Given the description of an element on the screen output the (x, y) to click on. 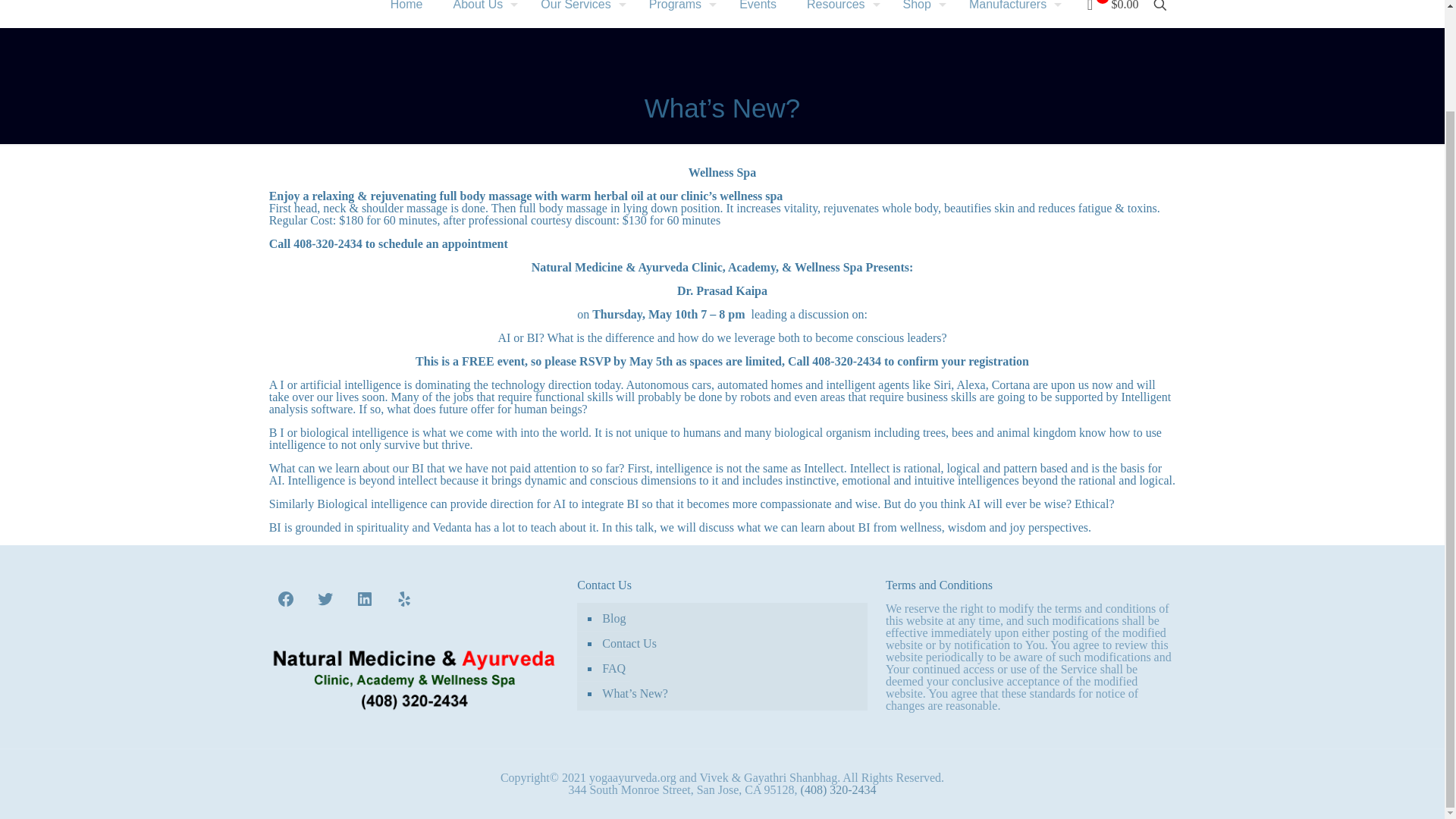
Programs (678, 13)
Events (757, 13)
Home (406, 13)
Our Services (579, 13)
Shop (920, 13)
Resources (839, 13)
About Us (481, 13)
